Given the description of an element on the screen output the (x, y) to click on. 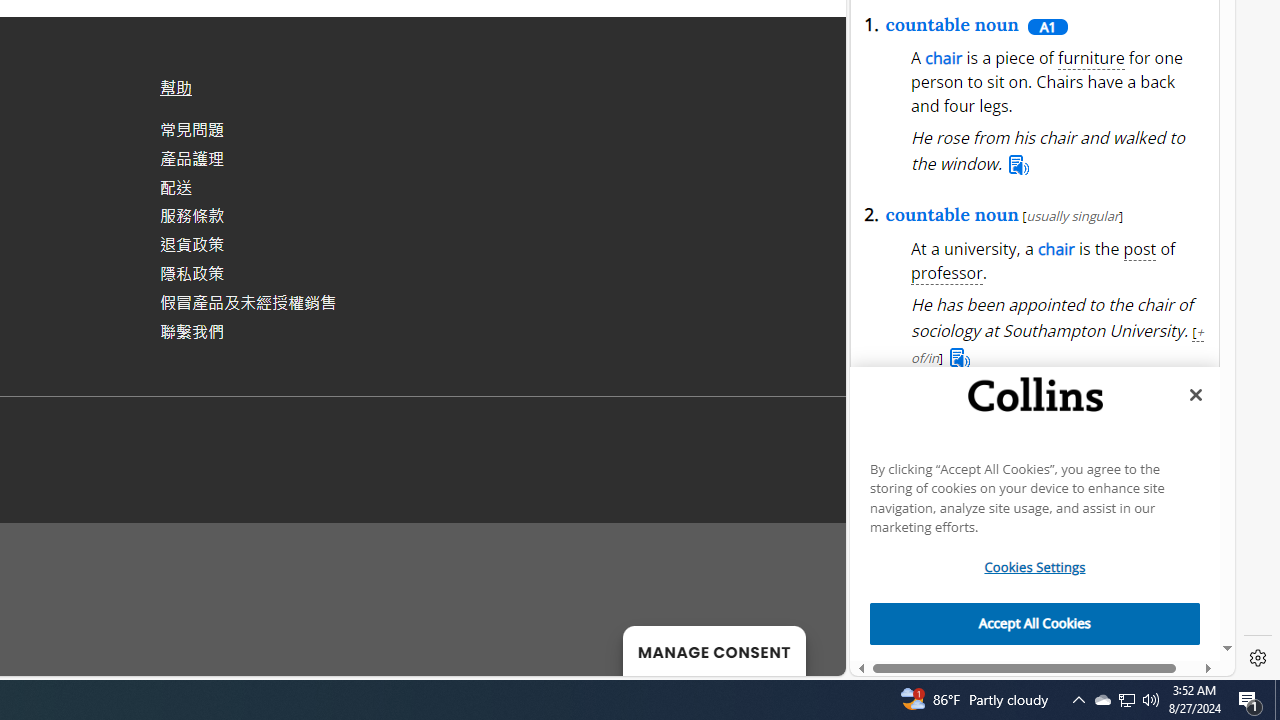
A1 (1046, 26)
professor (947, 273)
Link for logging (1072, 285)
committee (951, 518)
Show more (1149, 125)
Accept All Cookies (1035, 624)
